Given the description of an element on the screen output the (x, y) to click on. 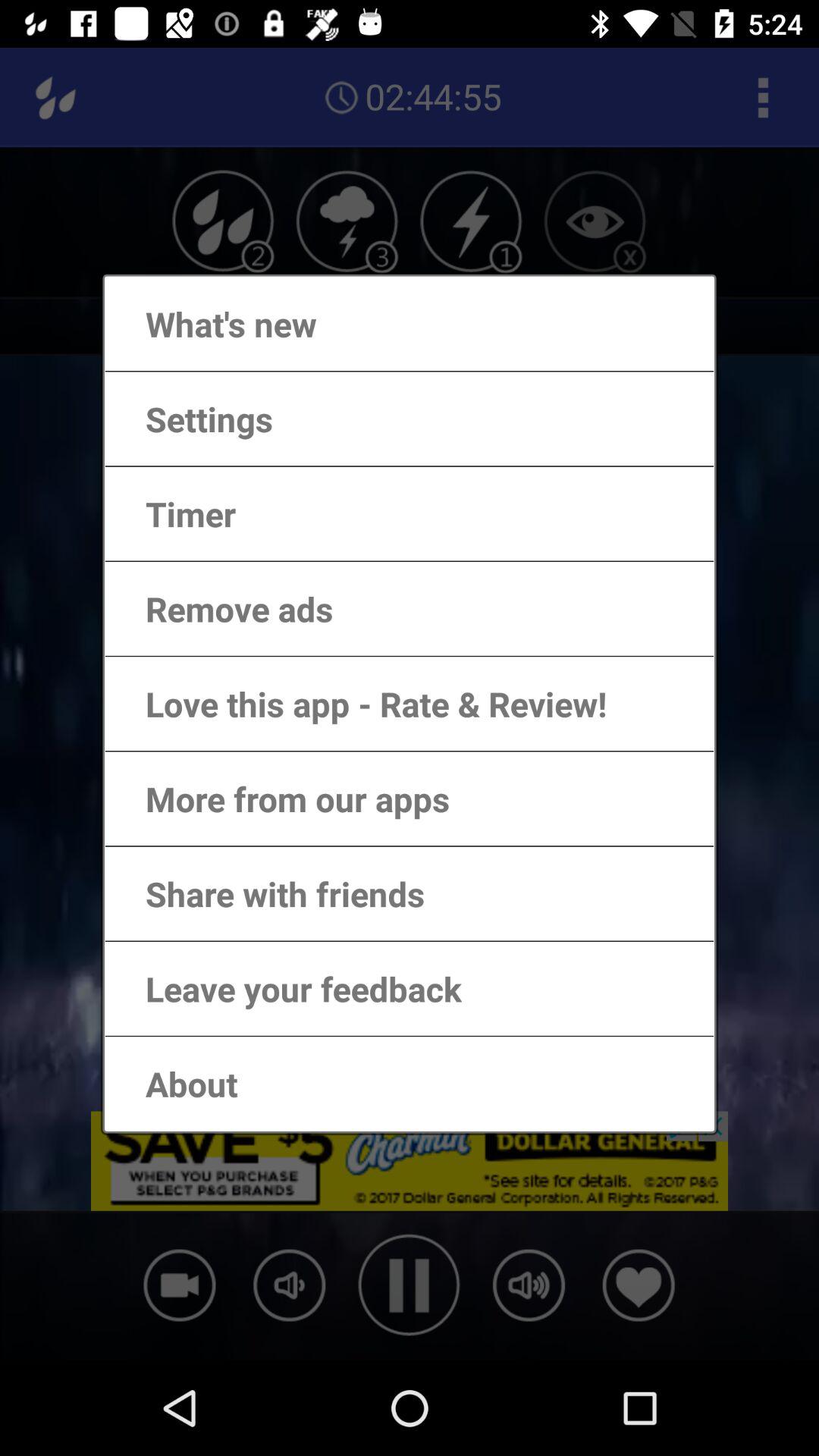
launch the share with friends item (269, 893)
